Given the description of an element on the screen output the (x, y) to click on. 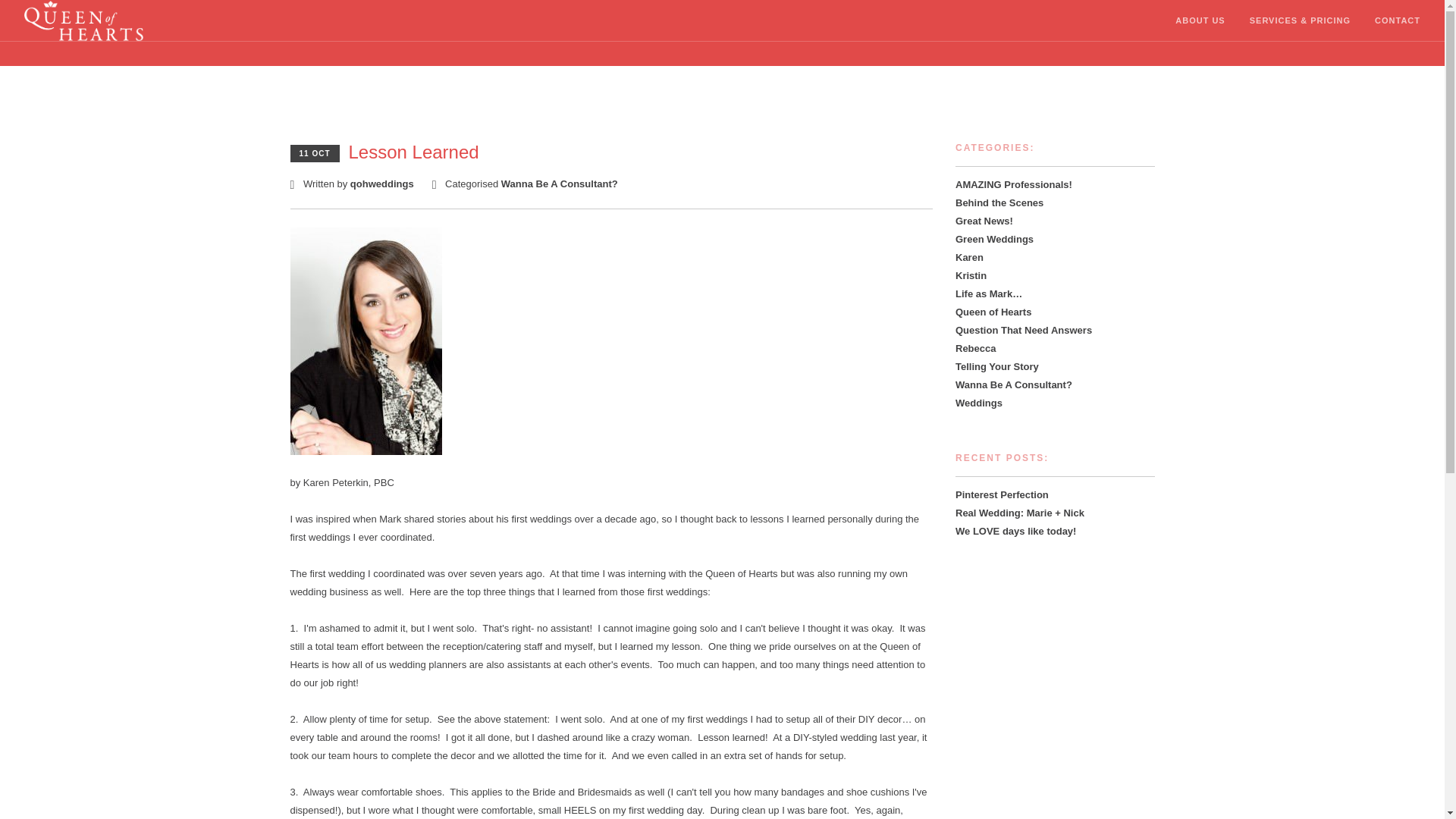
Rebecca (975, 348)
Question That Need Answers (1023, 329)
We LOVE days like today! (1015, 531)
Wanna Be A Consultant? (558, 183)
qohweddings (381, 183)
ABOUT US (1199, 21)
Pinterest Perfection (1001, 494)
Behind the Scenes (999, 202)
Kristin (971, 275)
Queen of Hearts (992, 311)
